Given the description of an element on the screen output the (x, y) to click on. 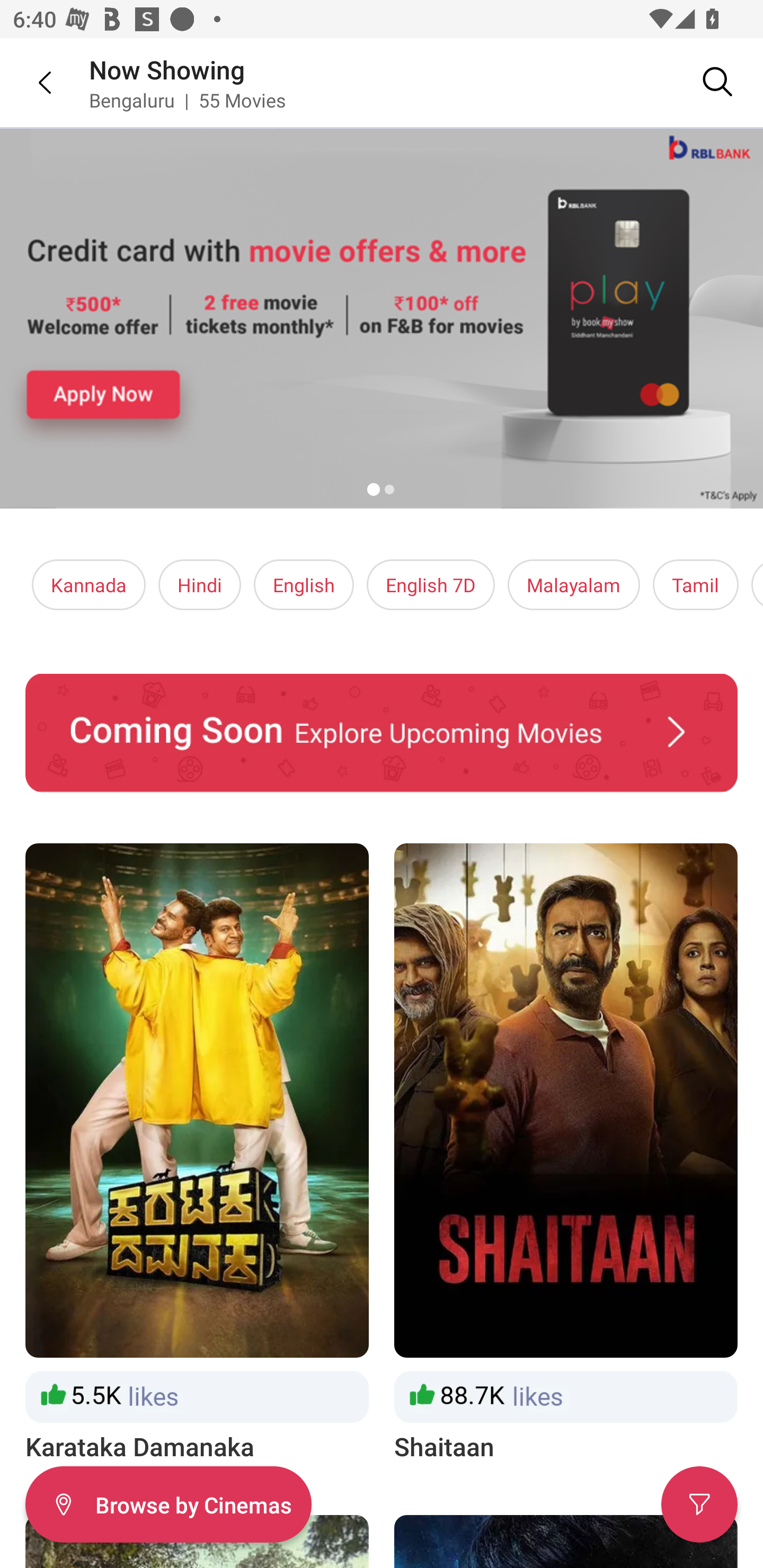
Back (31, 82)
Now Showing (166, 68)
Bengaluru  |  55 Movies (187, 99)
Kannada (88, 584)
Hindi (199, 584)
English (304, 584)
English 7D (431, 584)
Malayalam (573, 584)
Tamil (695, 584)
Karataka Damanaka (196, 1153)
Shaitaan (565, 1153)
Filter Browse by Cinemas (168, 1504)
Filter (699, 1504)
